Given the description of an element on the screen output the (x, y) to click on. 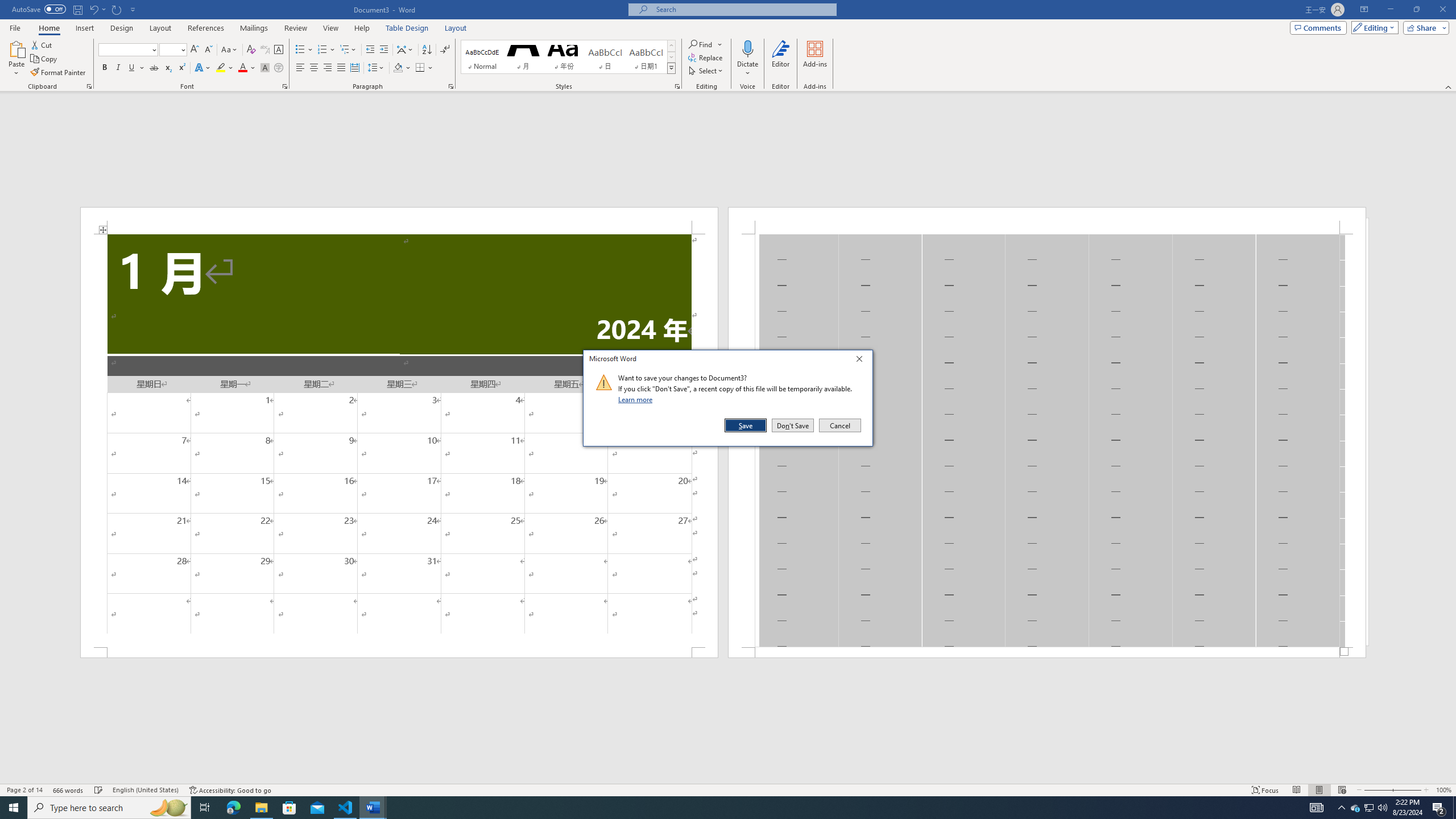
Microsoft Store (289, 807)
File Explorer - 1 running window (261, 807)
Distributed (354, 67)
Page Number Page 2 of 14 (24, 790)
Action Center, 2 new notifications (1439, 807)
Class: NetUIScrollBar (728, 778)
